Given the description of an element on the screen output the (x, y) to click on. 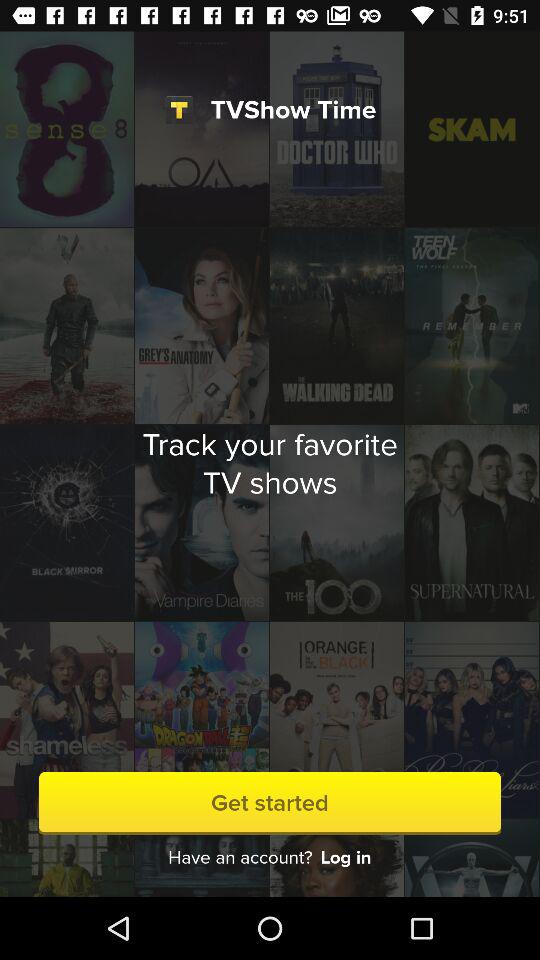
tap log in icon (345, 857)
